Given the description of an element on the screen output the (x, y) to click on. 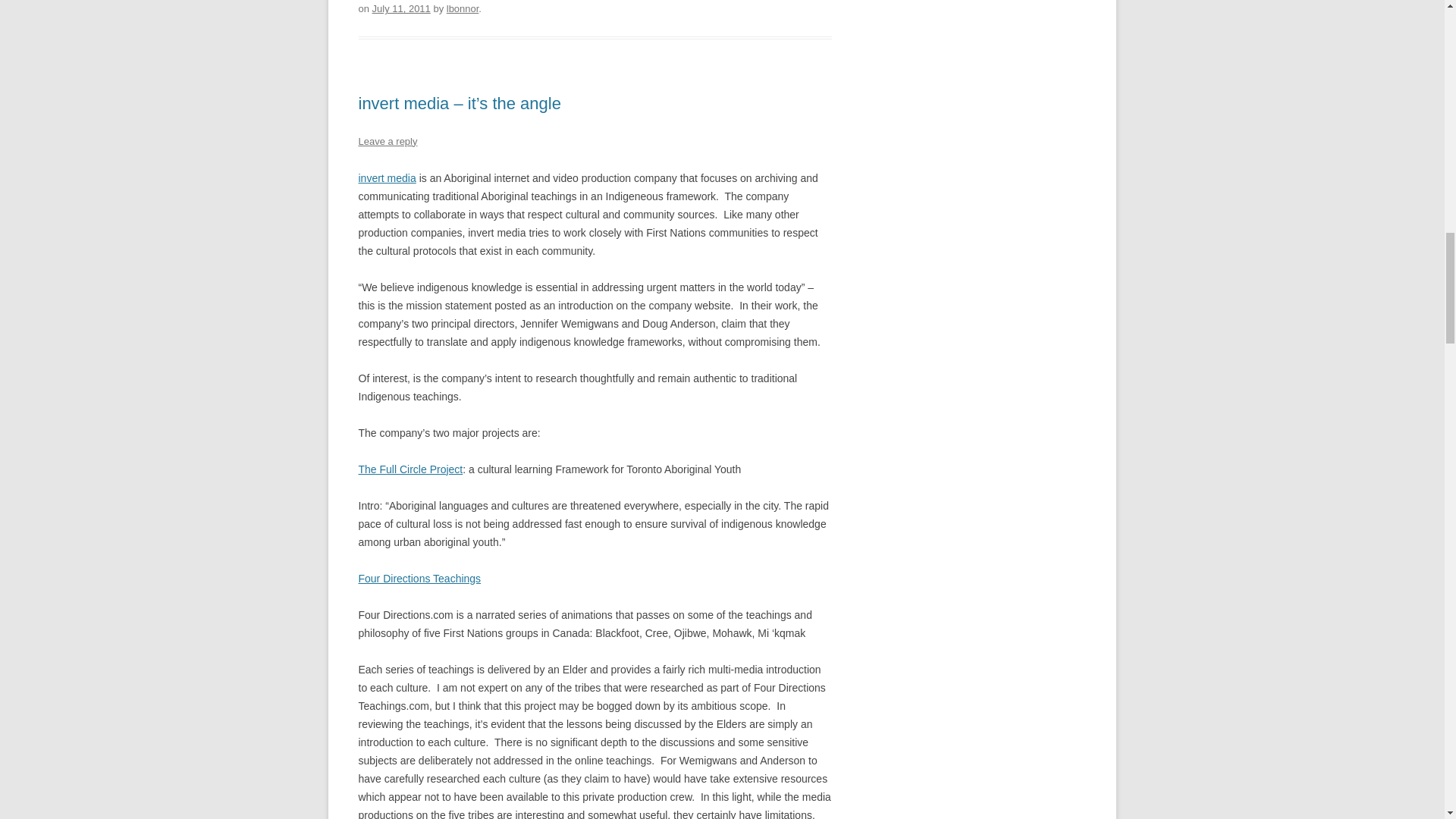
July 11, 2011 (401, 8)
lbonnor (462, 8)
7:51 am (401, 8)
View all posts by lbonnor (462, 8)
